Given the description of an element on the screen output the (x, y) to click on. 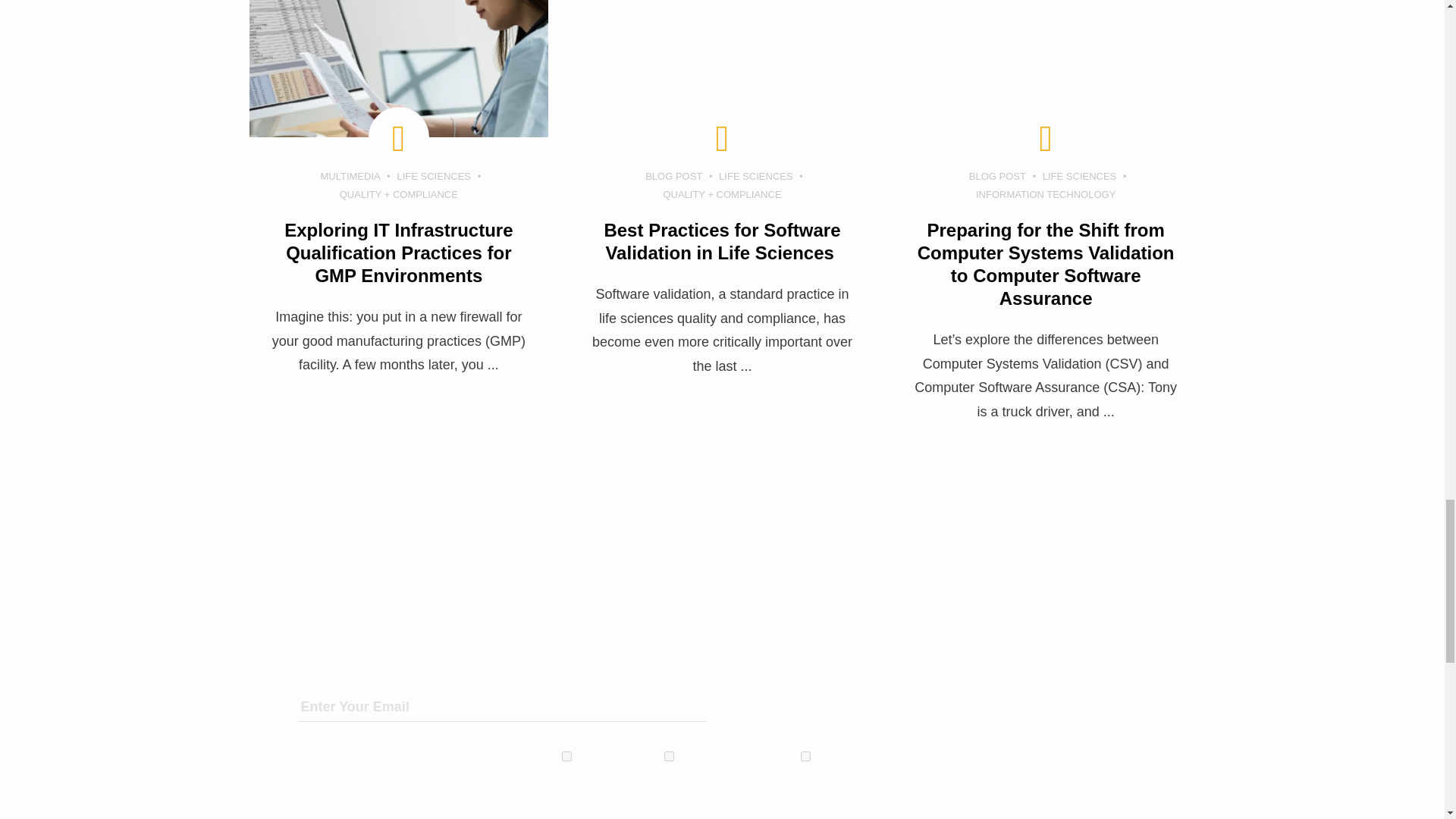
Life Sciences (567, 756)
Retail Industry (805, 756)
Consumer Products and Retail (668, 756)
